Given the description of an element on the screen output the (x, y) to click on. 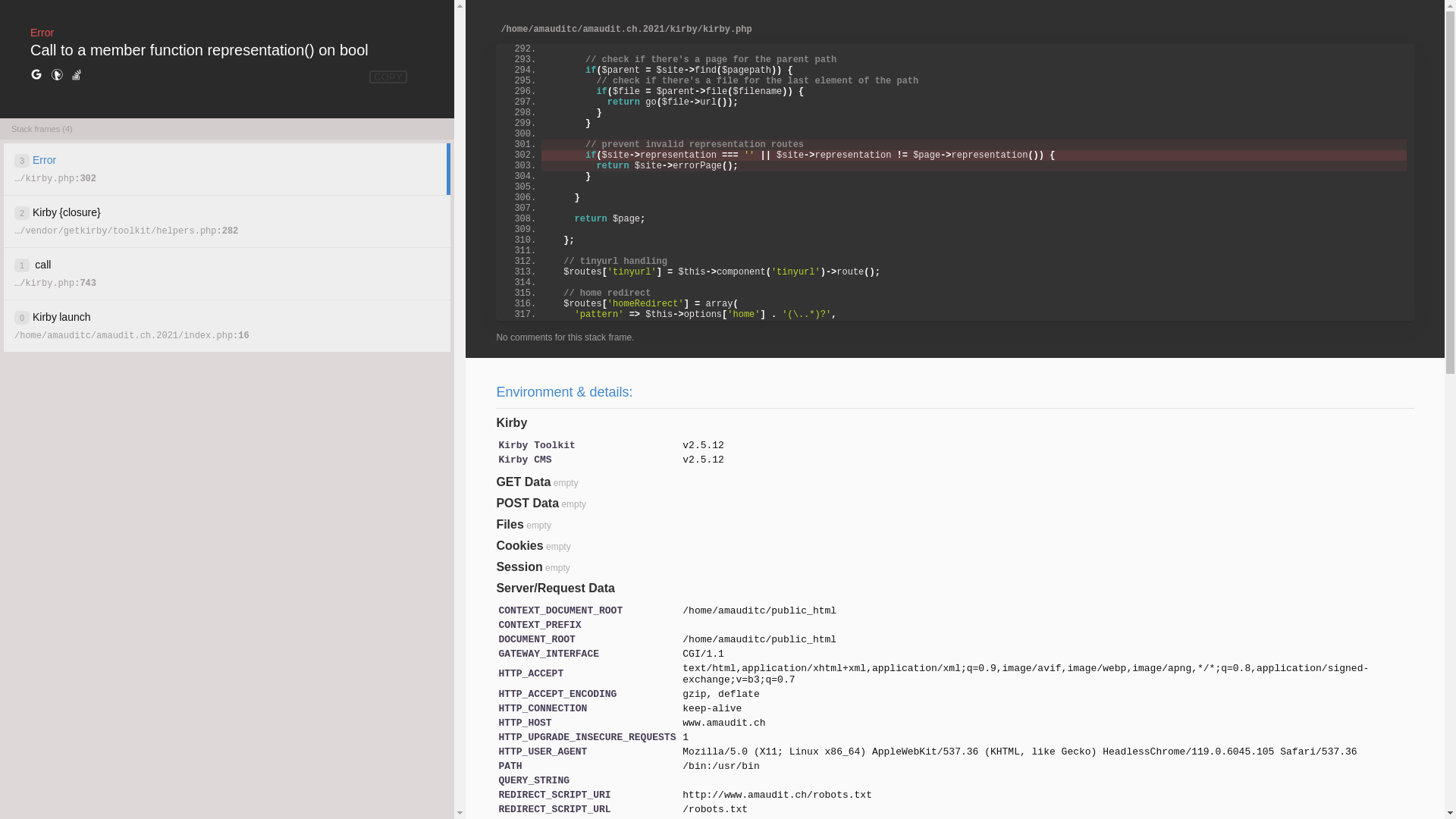
Search for help on DuckDuckGo. Element type: hover (56, 74)
Search for help on Stack Overflow. Element type: hover (76, 74)
COPY Element type: text (388, 76)
Search for help on Google. Element type: hover (36, 74)
